Given the description of an element on the screen output the (x, y) to click on. 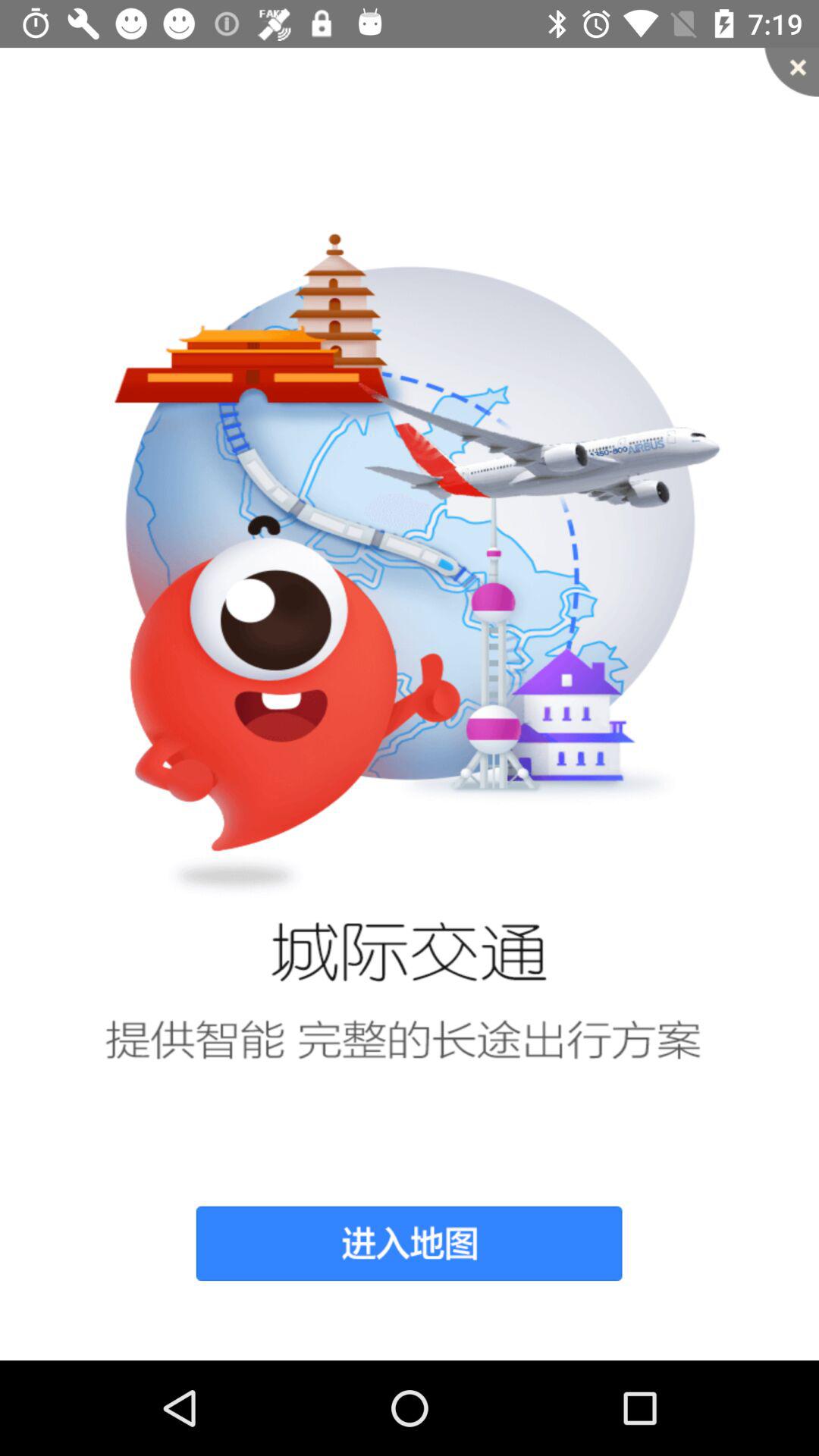
close window (791, 71)
